Given the description of an element on the screen output the (x, y) to click on. 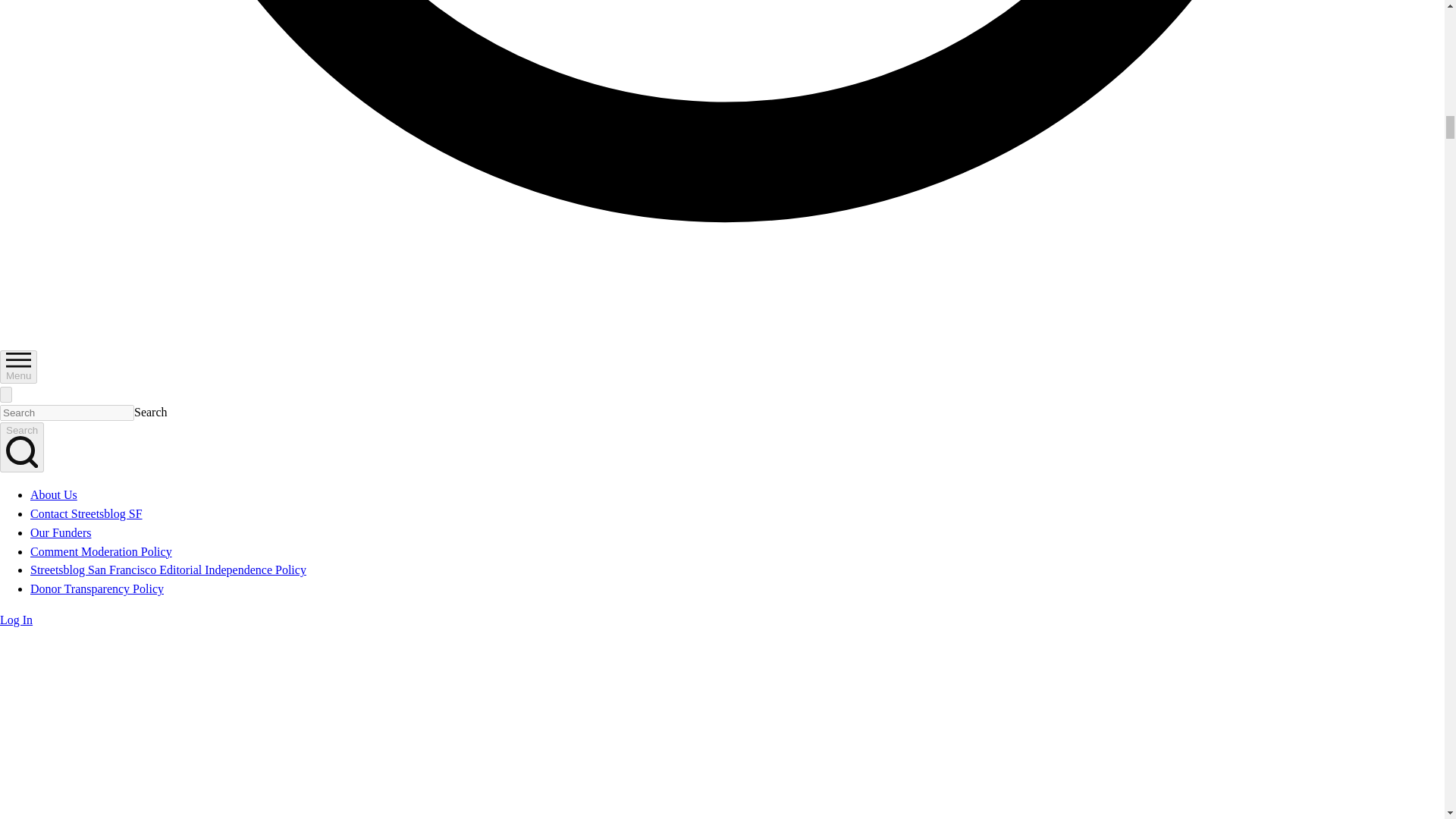
Streetsblog San Francisco Editorial Independence Policy (167, 569)
Contact Streetsblog SF (86, 513)
Comment Moderation Policy (100, 551)
Menu (18, 366)
About Us (53, 494)
Our Funders (60, 532)
Donor Transparency Policy (96, 588)
